Given the description of an element on the screen output the (x, y) to click on. 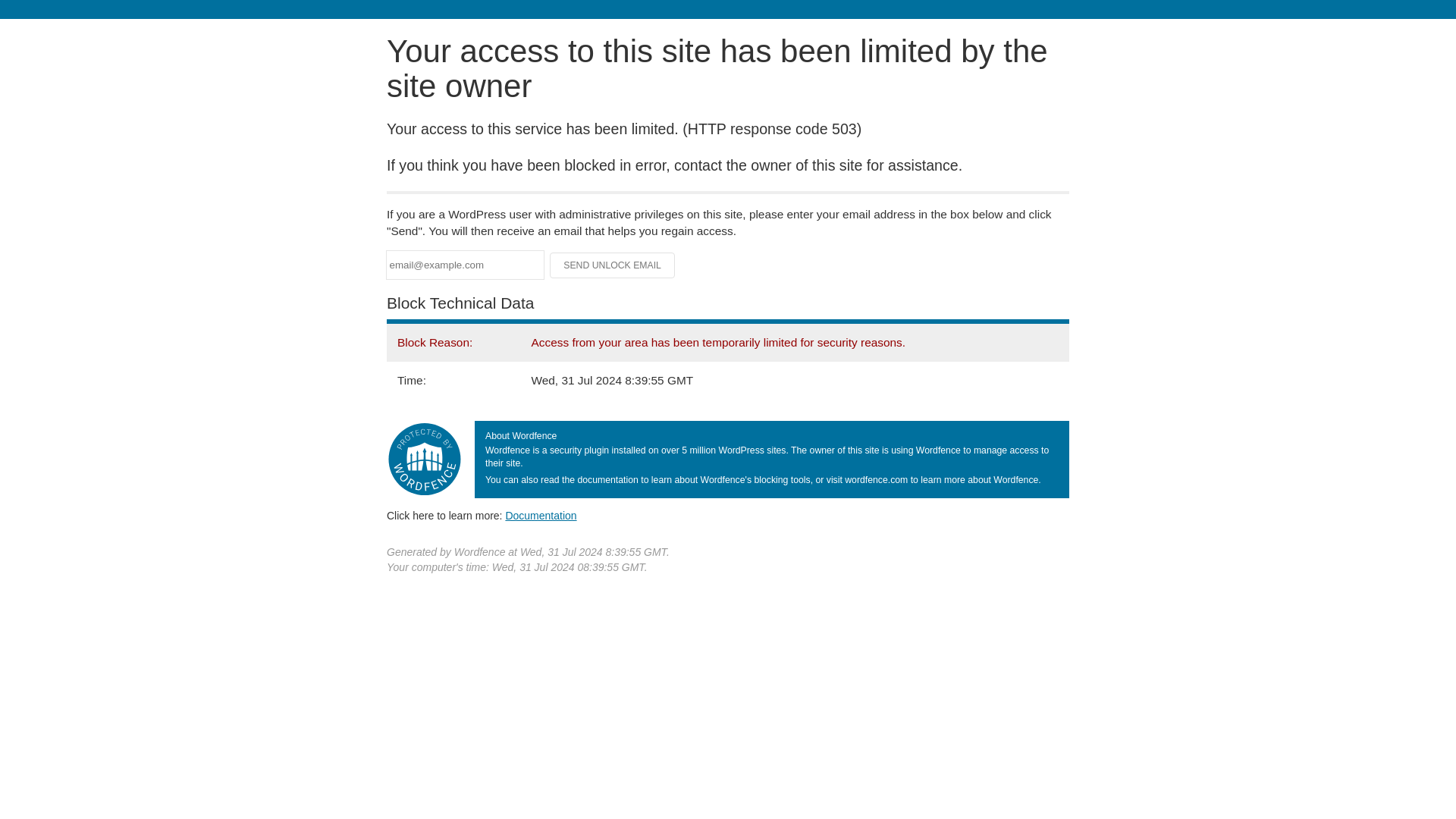
Send Unlock Email (612, 265)
Documentation (540, 515)
Send Unlock Email (612, 265)
